Given the description of an element on the screen output the (x, y) to click on. 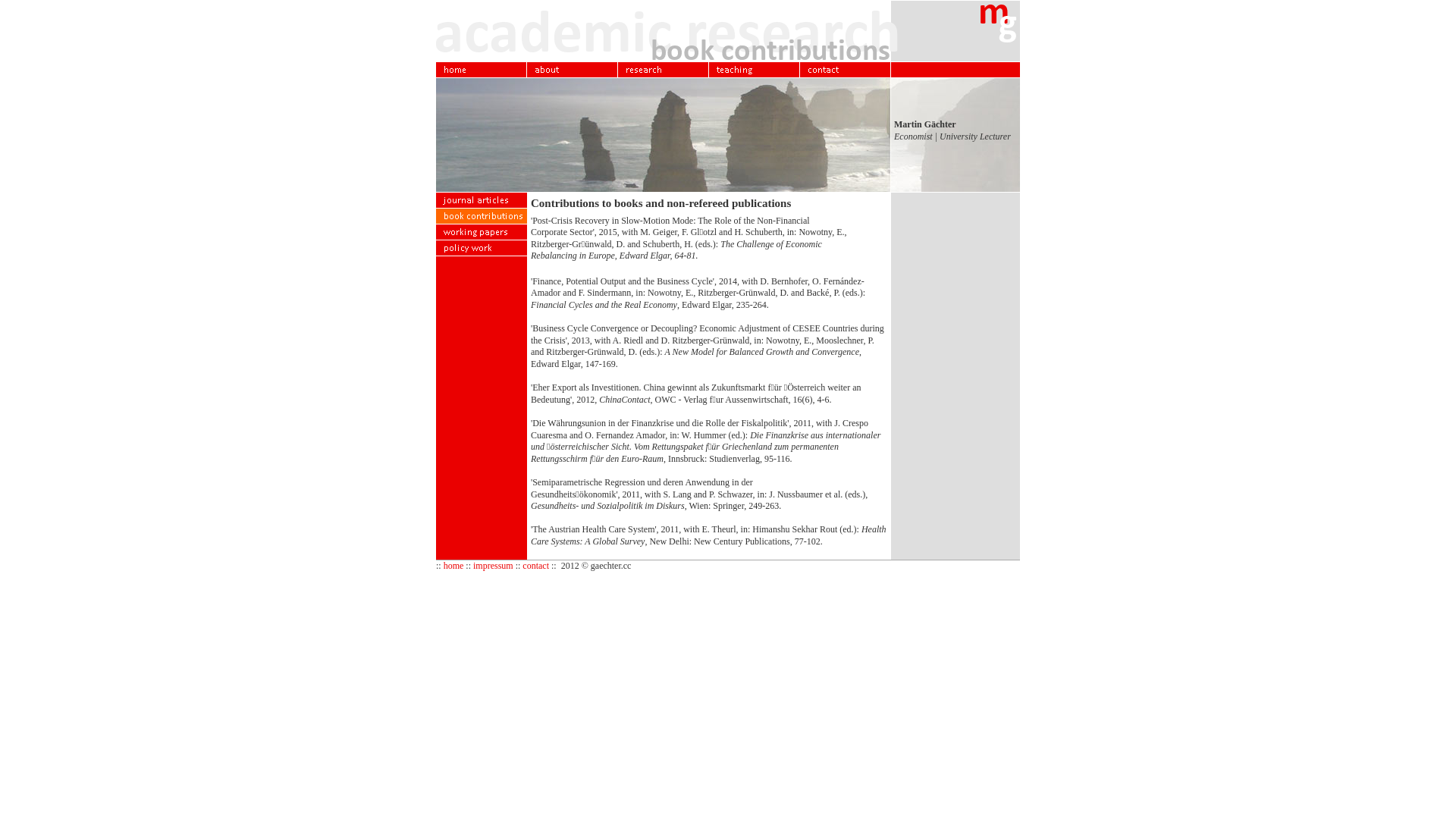
home Element type: text (453, 565)
impressum Element type: text (493, 565)
contact Element type: text (535, 565)
